Given the description of an element on the screen output the (x, y) to click on. 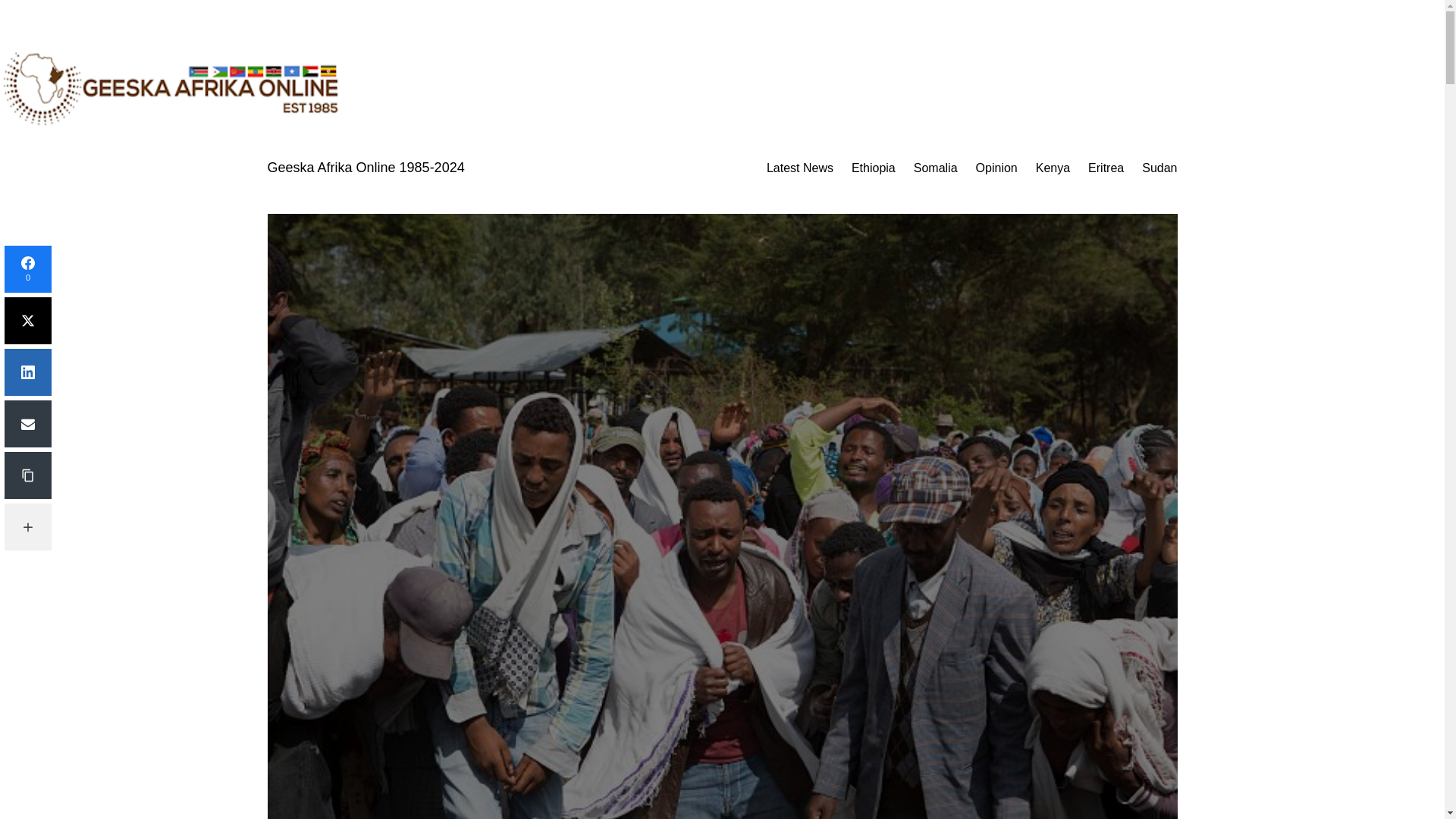
Kenya (1052, 168)
Opinion (996, 168)
Sudan (1158, 168)
Geeska Afrika Online 1985-2024 (365, 167)
Latest News (799, 168)
Ethiopia (873, 168)
Eritrea (1105, 168)
Somalia (936, 168)
